Given the description of an element on the screen output the (x, y) to click on. 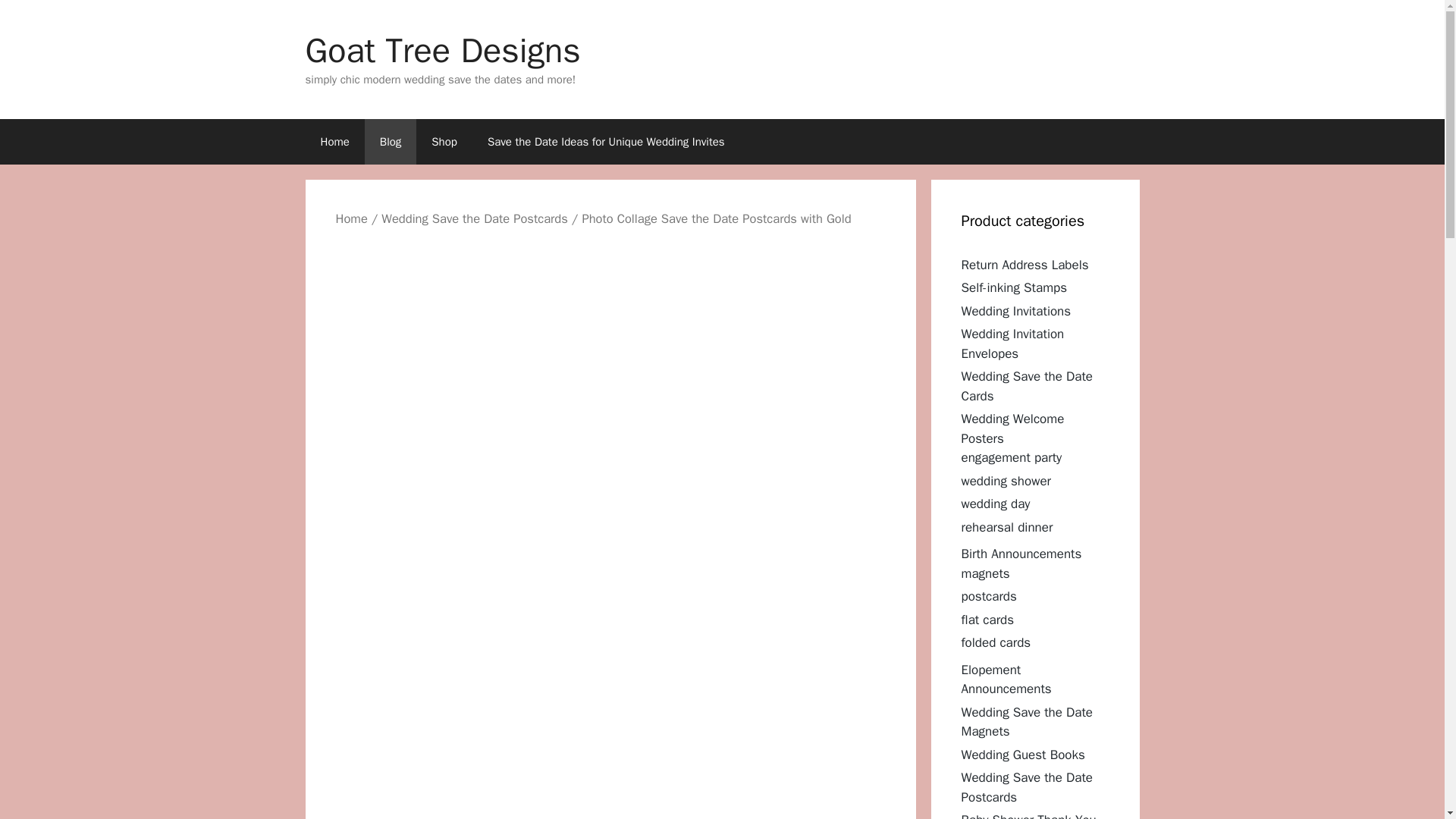
Wedding Save the Date Magnets (1026, 721)
folded cards (995, 642)
magnets (985, 573)
Home (350, 218)
Wedding Invitations (1015, 311)
Wedding Save the Date Cards (1026, 386)
rehearsal dinner (1006, 526)
Birth Announcements (1020, 553)
Wedding Welcome Posters (1012, 428)
Wedding Invitation Envelopes (1012, 343)
